Given the description of an element on the screen output the (x, y) to click on. 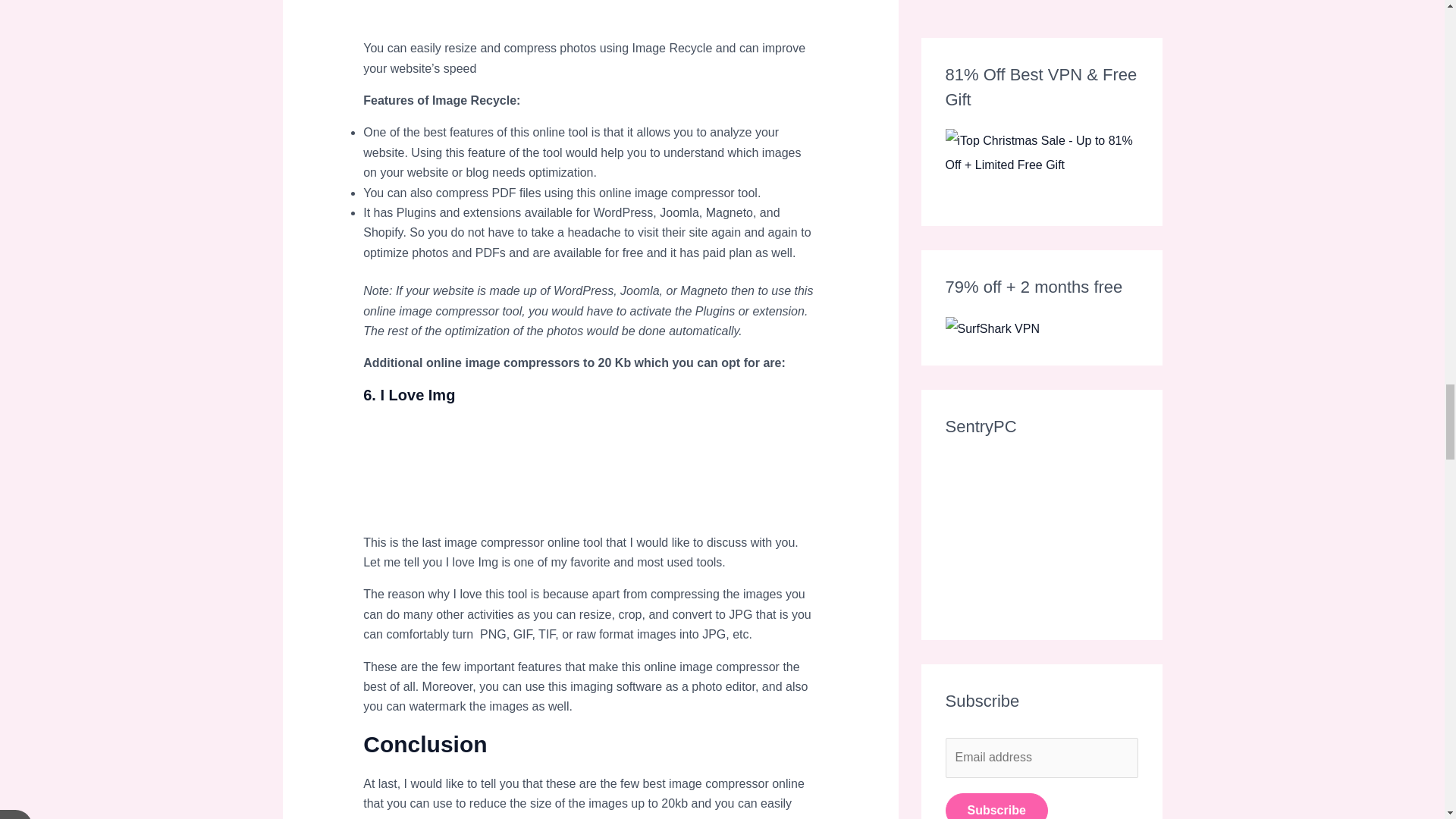
source: imgur.com (476, 476)
source: imgur.com (589, 19)
